Given the description of an element on the screen output the (x, y) to click on. 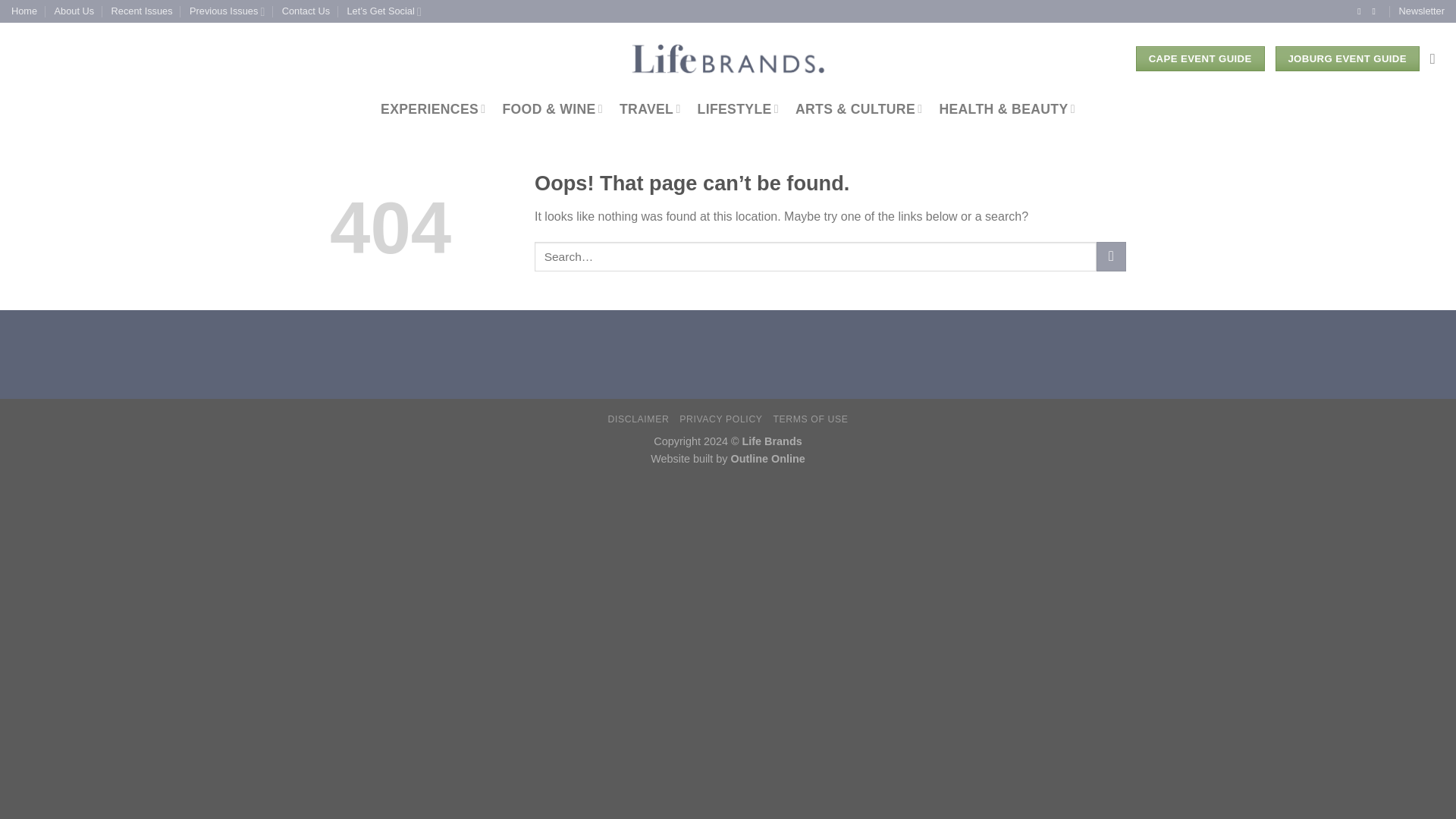
LIFESTYLE (737, 108)
Previous Issues (226, 11)
Newsletter (1421, 11)
Sign up to our Newsletter (1421, 11)
Recent Issues (142, 11)
CAPE EVENT GUIDE (1200, 58)
Home (24, 11)
EXPERIENCES (432, 108)
Contact Us (306, 11)
JOBURG EVENT GUIDE (1347, 58)
